Given the description of an element on the screen output the (x, y) to click on. 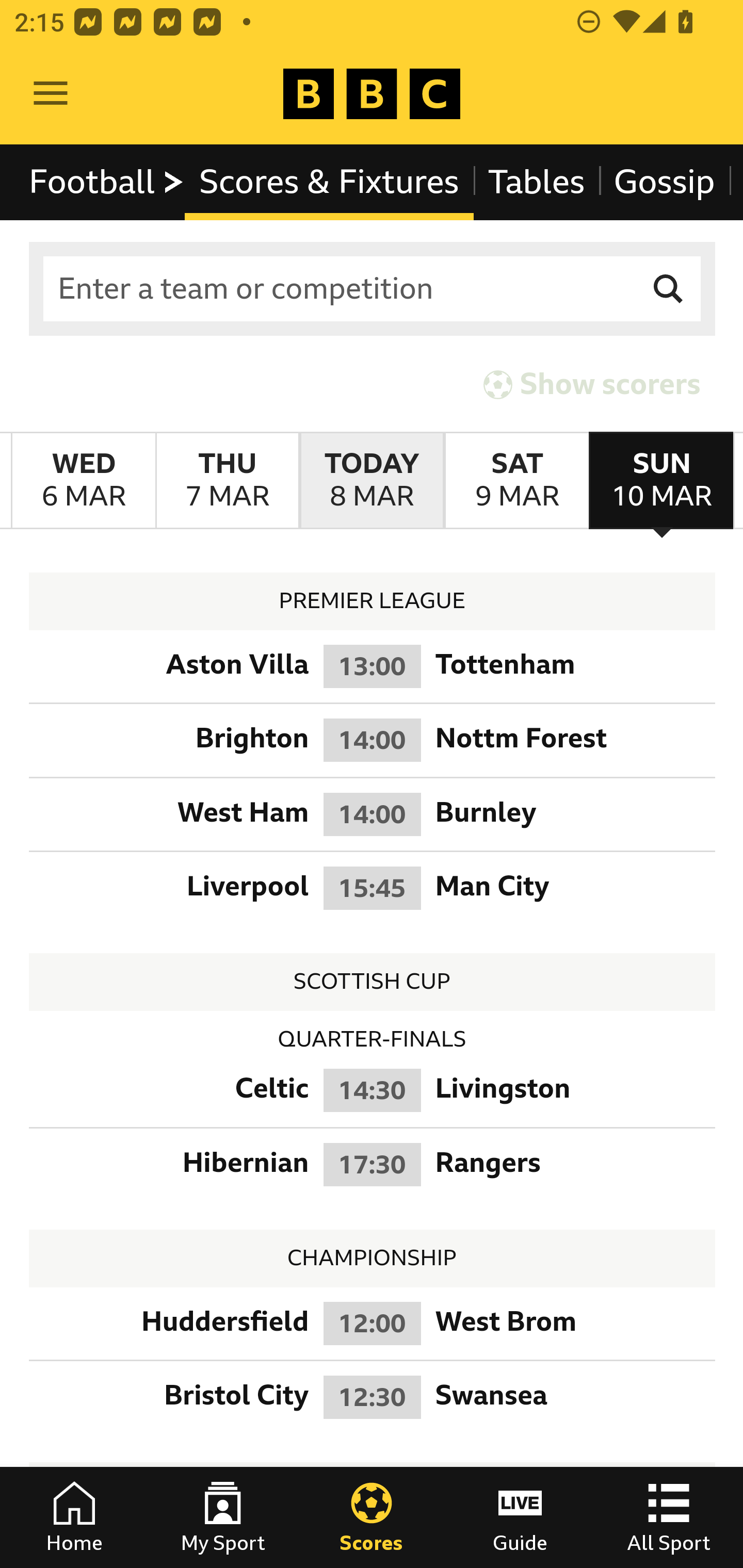
Open Menu (50, 93)
Football  (106, 181)
Scores & Fixtures (329, 181)
Tables (536, 181)
Gossip (664, 181)
Search (669, 289)
Show scorers (591, 383)
WednesdayMarch 6th Wednesday March 6th (83, 480)
ThursdayMarch 7th Thursday March 7th (227, 480)
TodayMarch 8th Today March 8th (371, 480)
SaturdayMarch 9th Saturday March 9th (516, 480)
SundayMarch 10th, Selected Sunday March 10th (661, 480)
Home (74, 1517)
My Sport (222, 1517)
Guide (519, 1517)
All Sport (668, 1517)
